Given the description of an element on the screen output the (x, y) to click on. 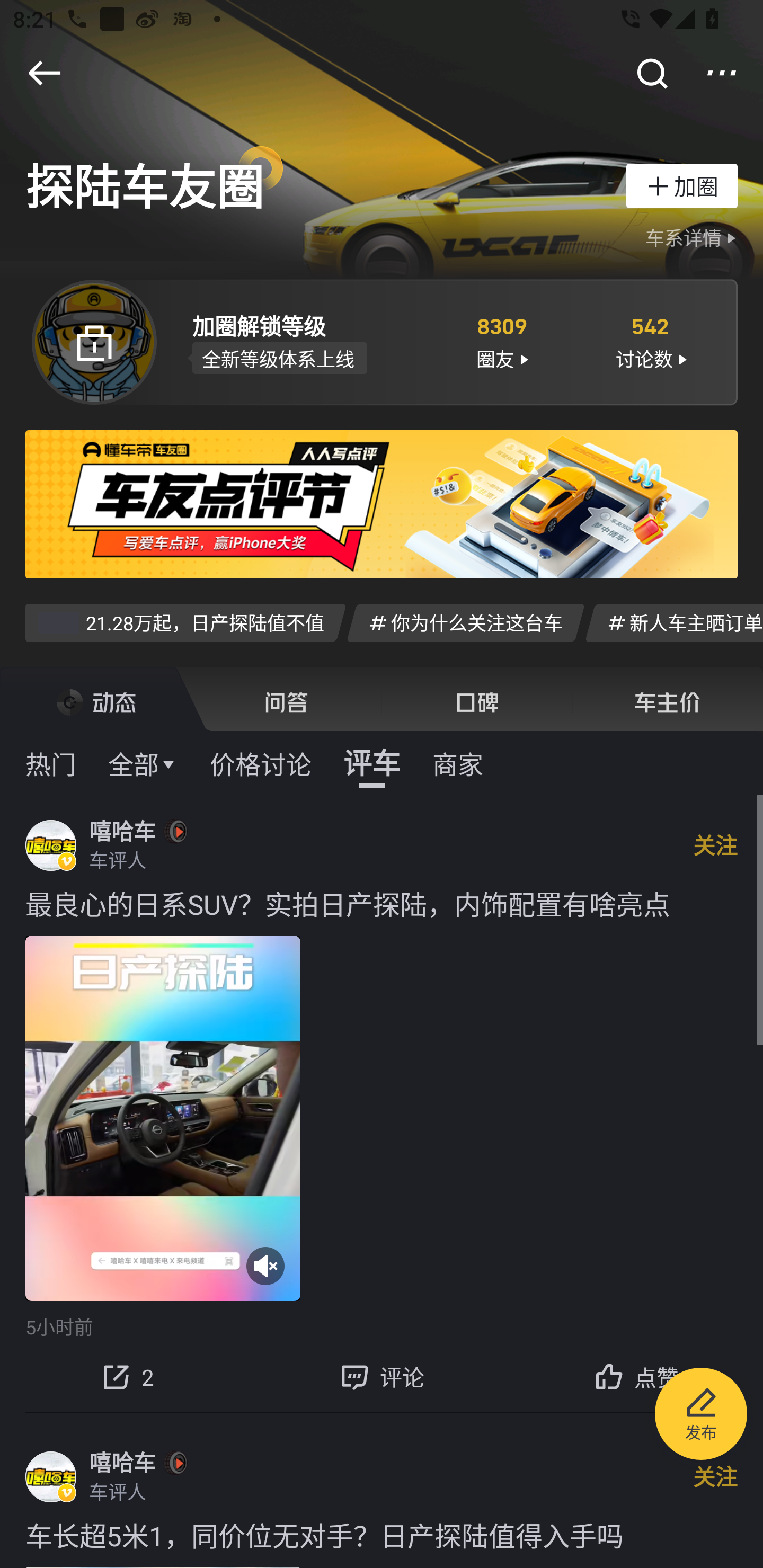
 (44, 72)
 (651, 72)
 (721, 72)
车系详情 (692, 238)
加圈解锁等级 全新等级体系上线 (307, 341)
8309 圈友 (501, 341)
542 讨论数 (650, 341)
打卡 21.28万起，日产探陆值不值 (185, 622)
 你为什么关注这台车 (465, 622)
 新人车主晒订单 (674, 622)
热门 (50, 762)
全部  (142, 762)
价格讨论 (260, 762)
评车 (371, 762)
商家 (457, 762)
嘻哈车 (122, 830)
关注 (714, 844)
最良心的日系SUV？实拍日产探陆，内饰配置有啥亮点 (381, 903)
 2 (127, 1377)
 评论 (381, 1377)
点赞 (635, 1377)
 发布 (701, 1416)
嘻哈车 (122, 1462)
关注 (714, 1476)
车长超5米1，同价位无对手？日产探陆值得入手吗 (381, 1533)
